Given the description of an element on the screen output the (x, y) to click on. 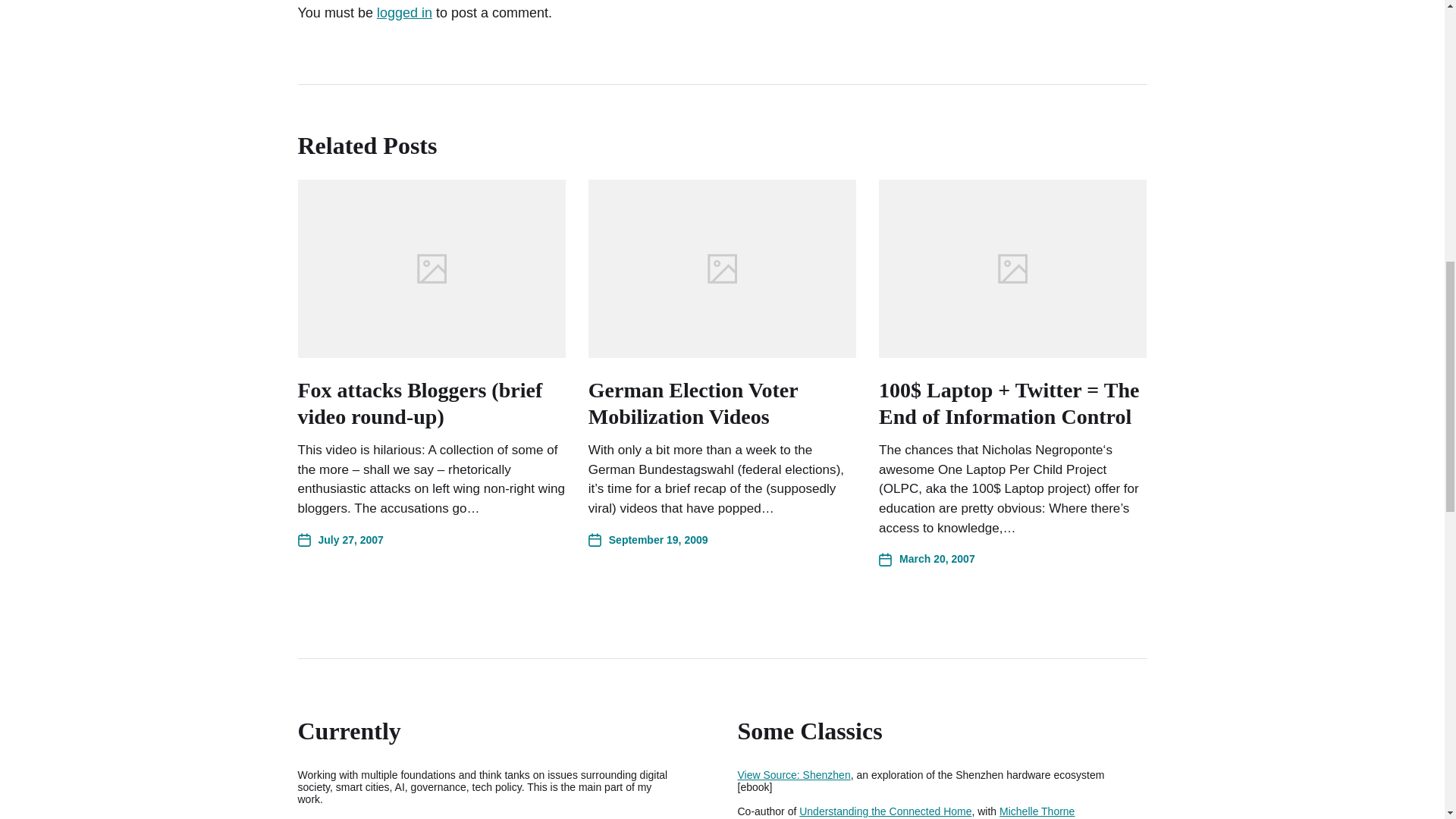
logged in (404, 11)
July 27, 2007 (339, 539)
September 19, 2009 (647, 539)
German Election Voter Mobilization Videos (692, 403)
